Given the description of an element on the screen output the (x, y) to click on. 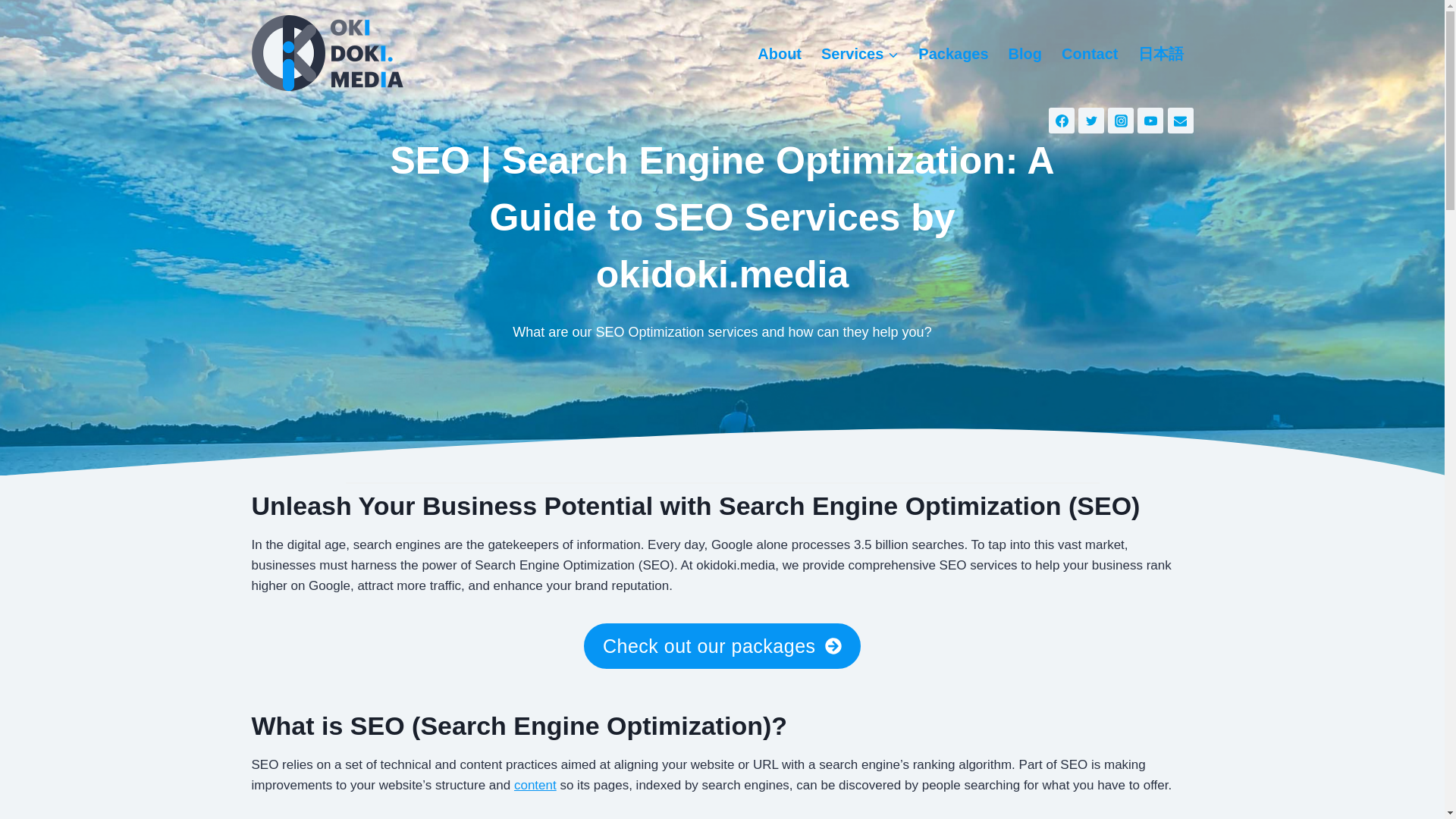
Contact (1088, 53)
Packages (952, 53)
Check out our packages (721, 645)
About (779, 53)
Blog (1024, 53)
Services (859, 53)
content (534, 785)
